Given the description of an element on the screen output the (x, y) to click on. 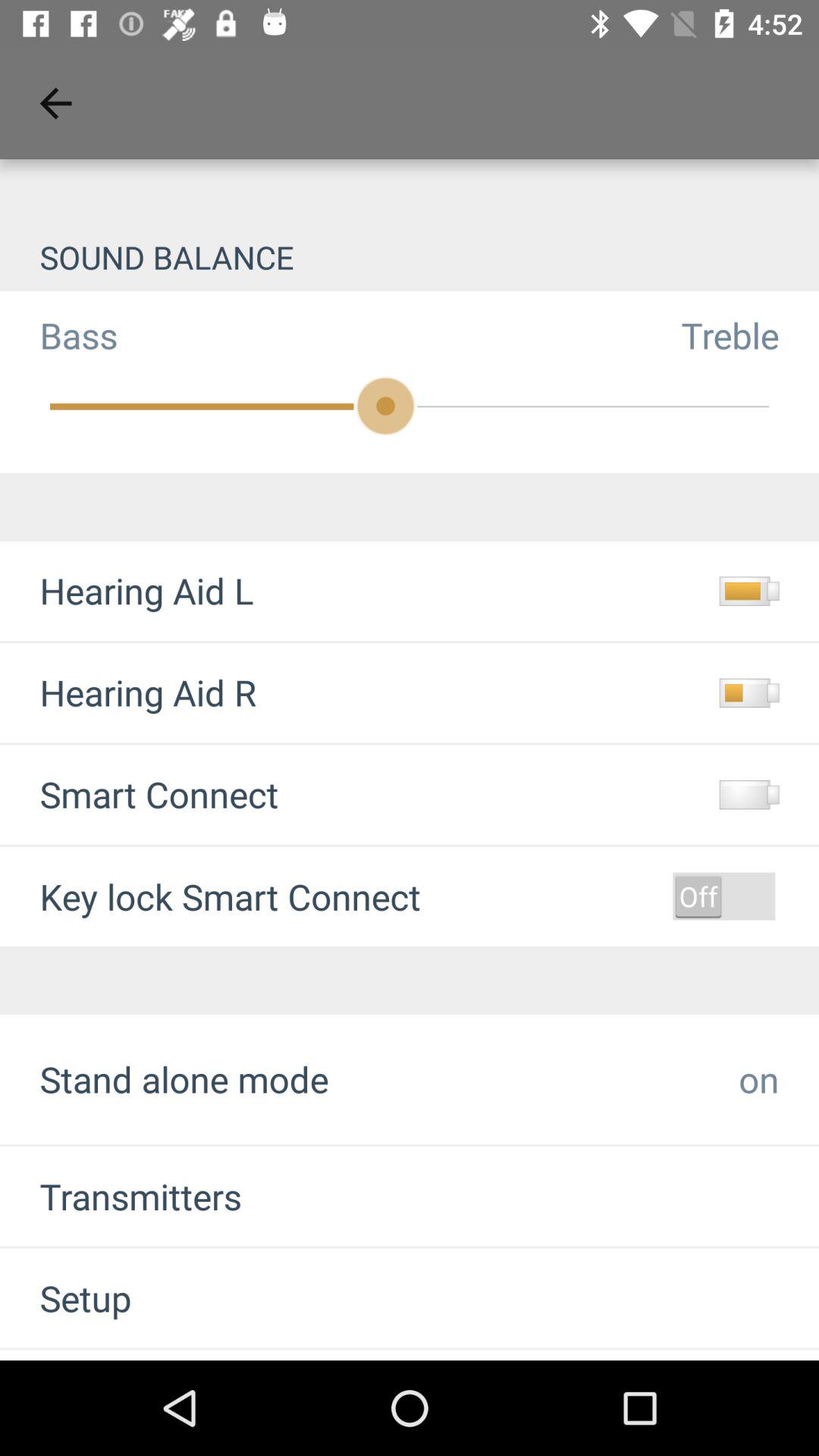
jump to bass (58, 335)
